Given the description of an element on the screen output the (x, y) to click on. 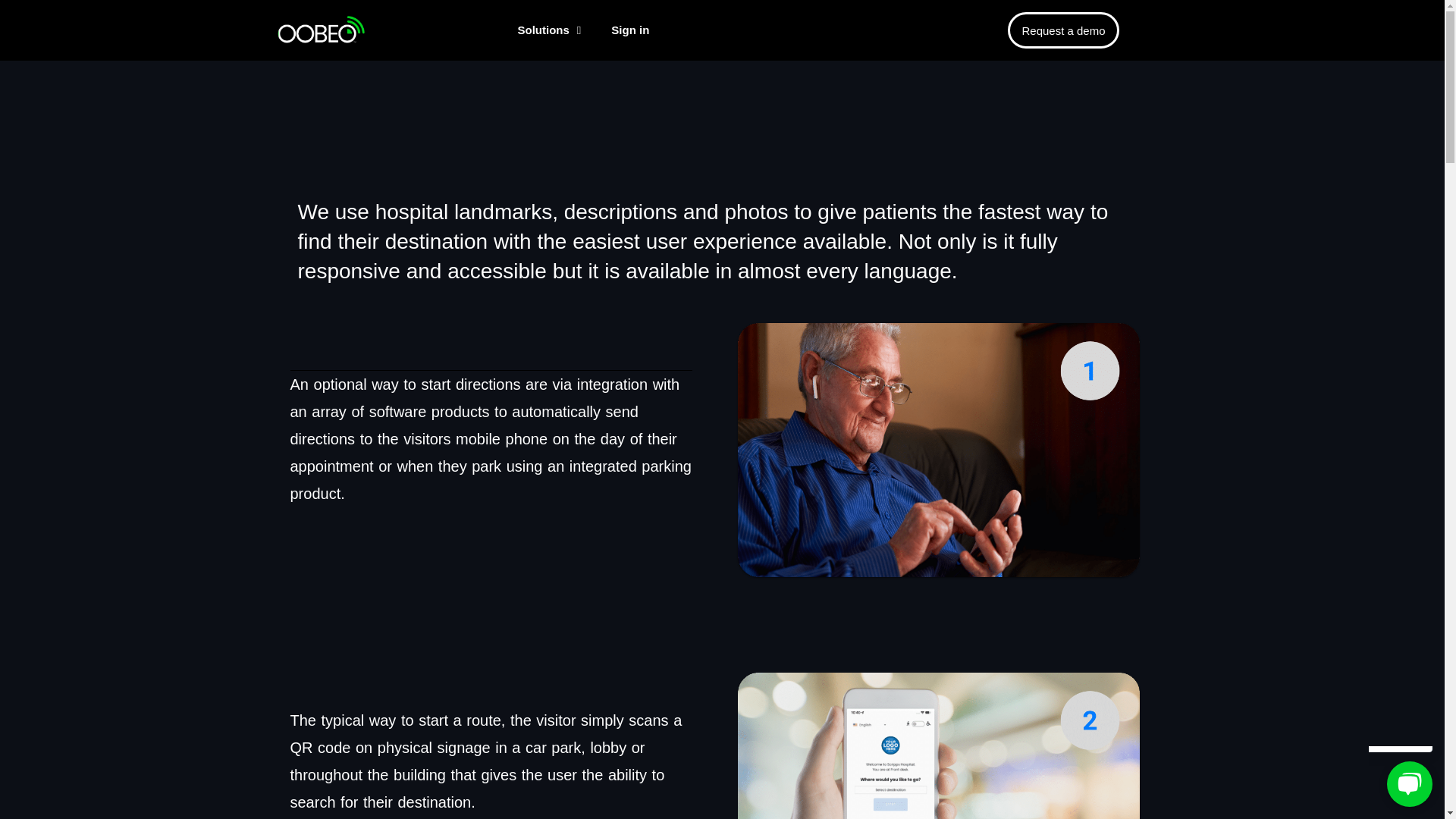
Request a demo (1062, 30)
Sign in (629, 30)
Solutions (548, 30)
